Given the description of an element on the screen output the (x, y) to click on. 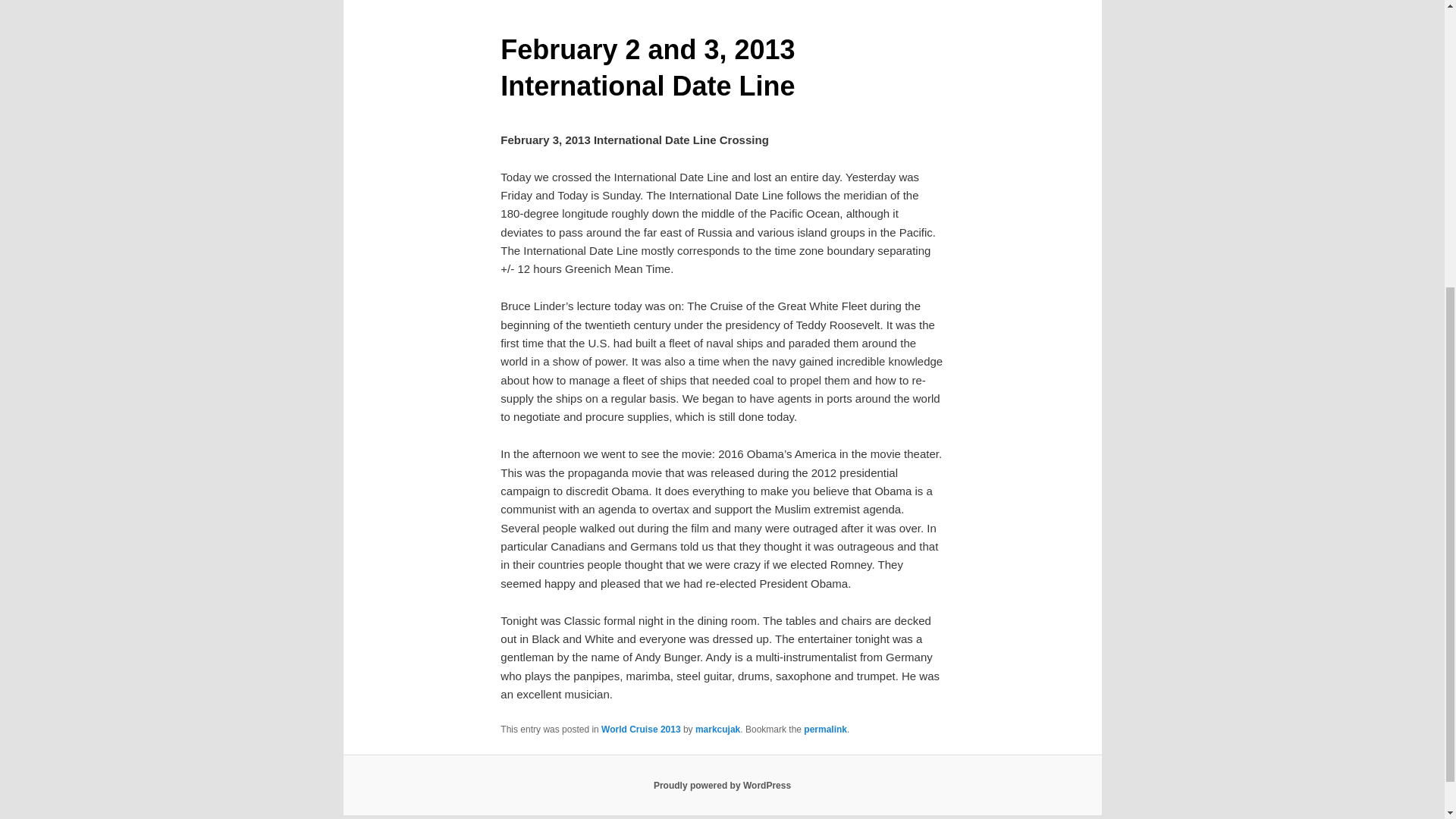
permalink (825, 728)
Semantic Personal Publishing Platform (721, 785)
Proudly powered by WordPress (721, 785)
Permalink to February 2 and 3, 2013 International Date Line (825, 728)
World Cruise 2013 (640, 728)
markcujak (717, 728)
